Given the description of an element on the screen output the (x, y) to click on. 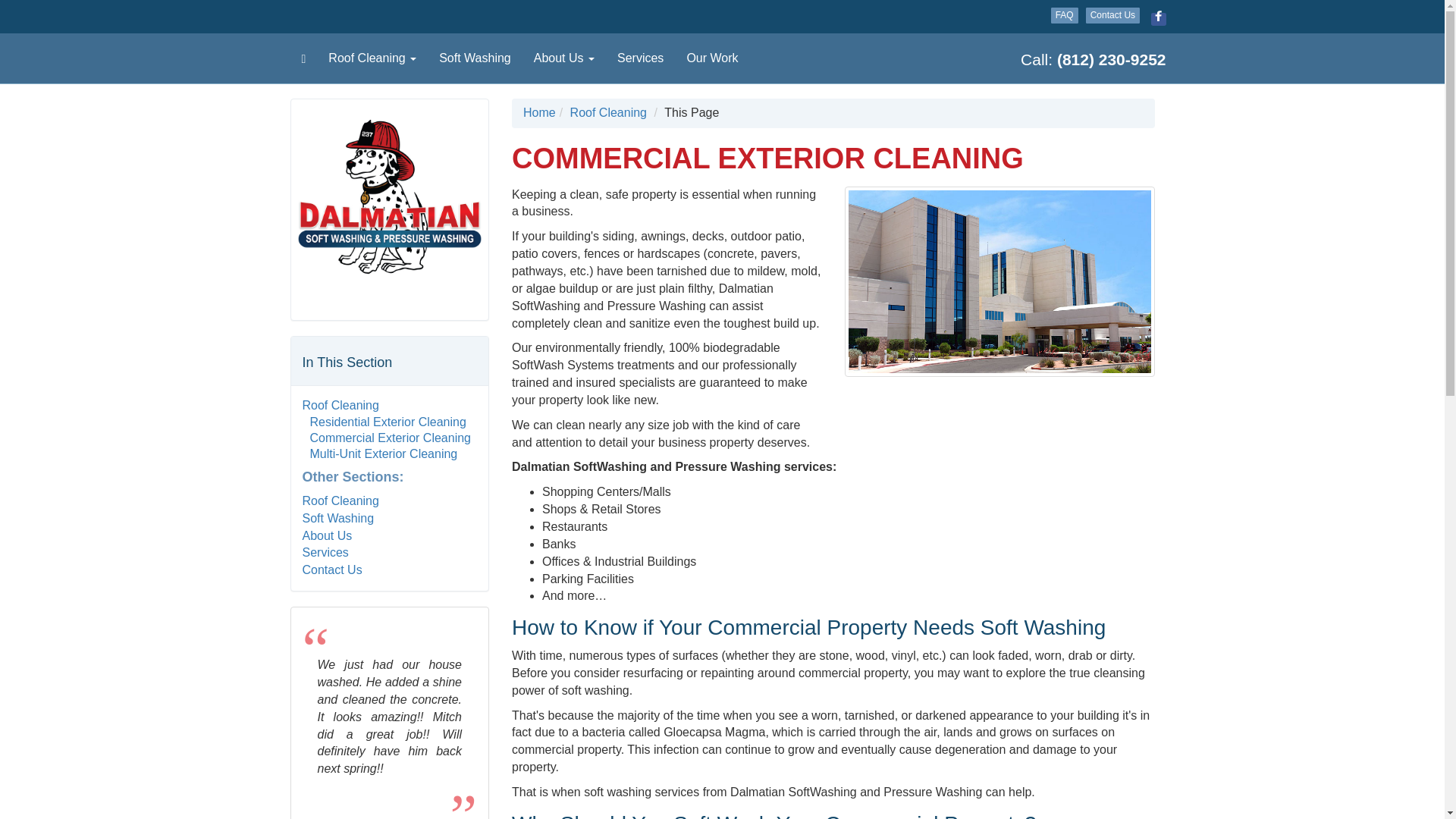
Multi-Unit Exterior Cleaning (382, 453)
Soft Washing (337, 517)
Home (539, 112)
Roof Cleaning (372, 58)
Roof Cleaning (608, 112)
Services (324, 552)
Commercial Exterior Cleaning (389, 437)
Services (640, 58)
Residential Exterior Cleaning (386, 421)
Roof Cleaning (339, 404)
